Given the description of an element on the screen output the (x, y) to click on. 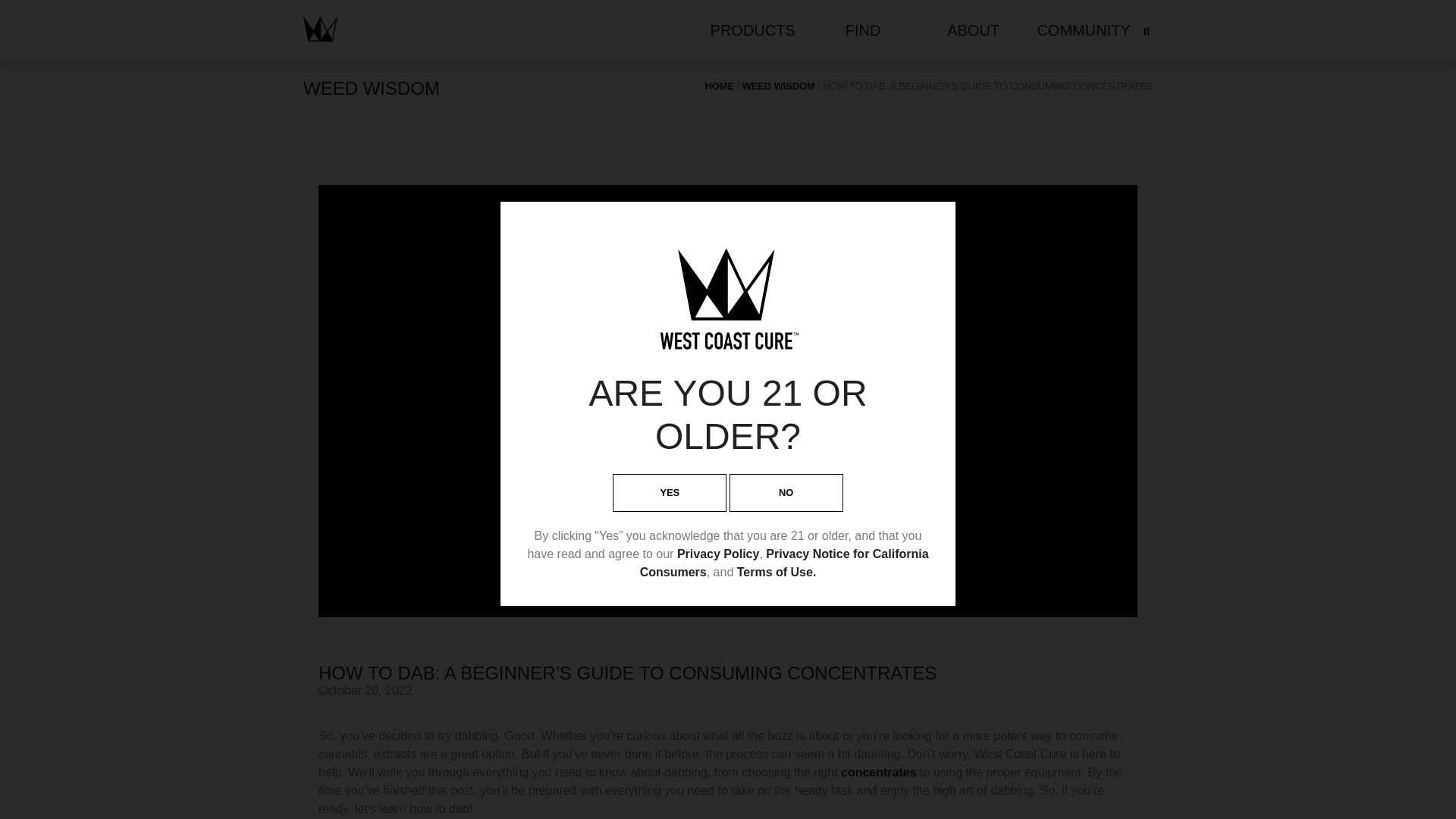
October 20, 2022 (365, 690)
PRODUCTS (752, 30)
ABOUT (972, 30)
COMMUNITY (1082, 30)
HOME (718, 85)
WEED WISDOM (778, 85)
FIND (862, 30)
